Given the description of an element on the screen output the (x, y) to click on. 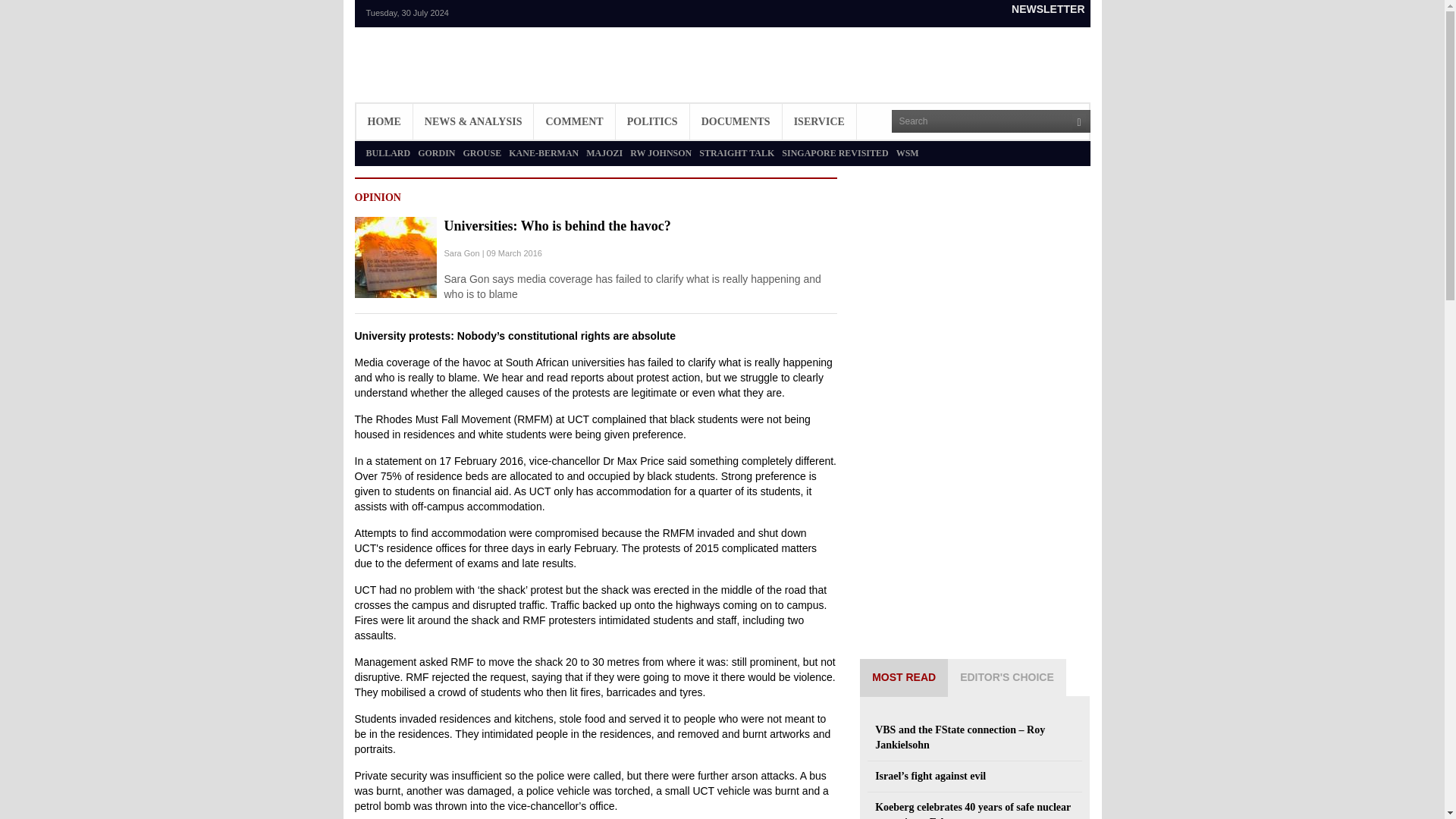
COMMENT (574, 121)
WSM (907, 153)
GROUSE (482, 153)
SINGAPORE REVISITED (834, 153)
ISERVICE (819, 121)
RW JOHNSON (660, 153)
POLITICS (651, 121)
HOME (384, 121)
KANE-BERMAN (543, 153)
GORDIN (435, 153)
MAJOZI (604, 153)
PoliticsWeb Home (438, 72)
BULLARD (387, 153)
NEWSLETTER (1047, 9)
DOCUMENTS (735, 121)
